Given the description of an element on the screen output the (x, y) to click on. 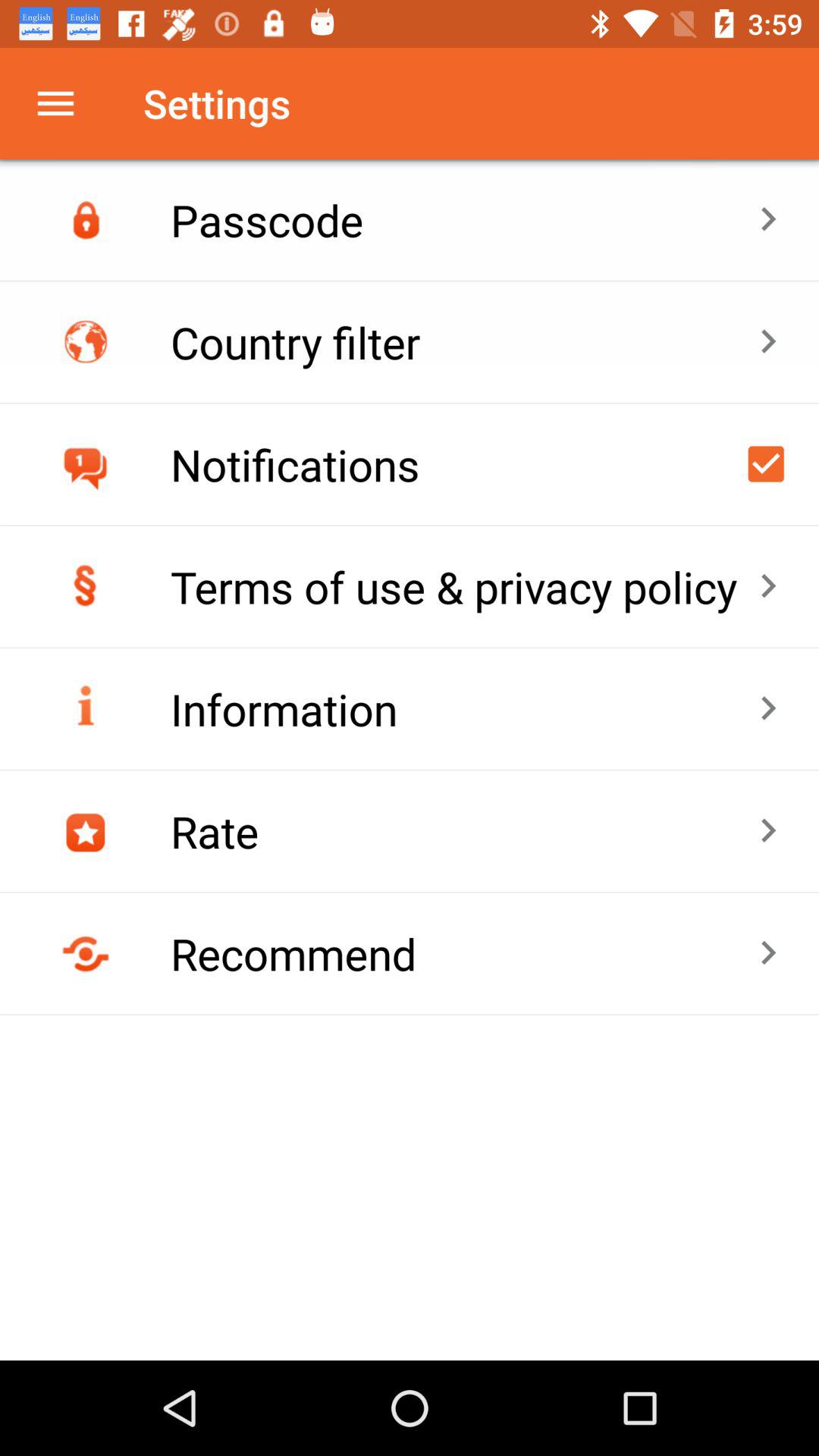
turn on terms of use item (464, 586)
